Given the description of an element on the screen output the (x, y) to click on. 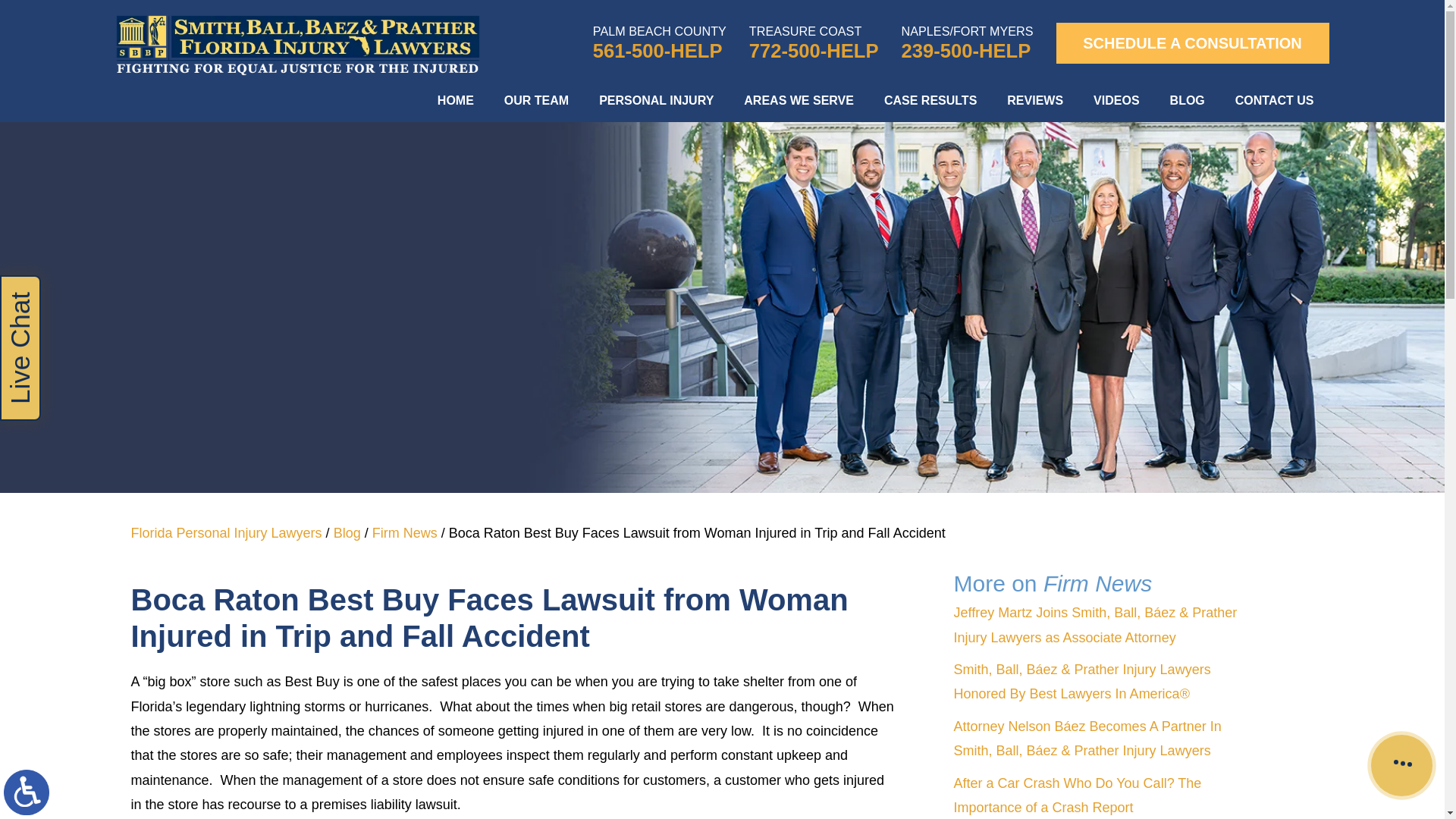
561-500-HELP (659, 51)
HOME (455, 100)
OUR TEAM (536, 100)
239-500-HELP (967, 51)
SCHEDULE A CONSULTATION (1191, 42)
PERSONAL INJURY (656, 100)
Switch to ADA Accessible Theme (26, 791)
772-500-HELP (814, 51)
